Given the description of an element on the screen output the (x, y) to click on. 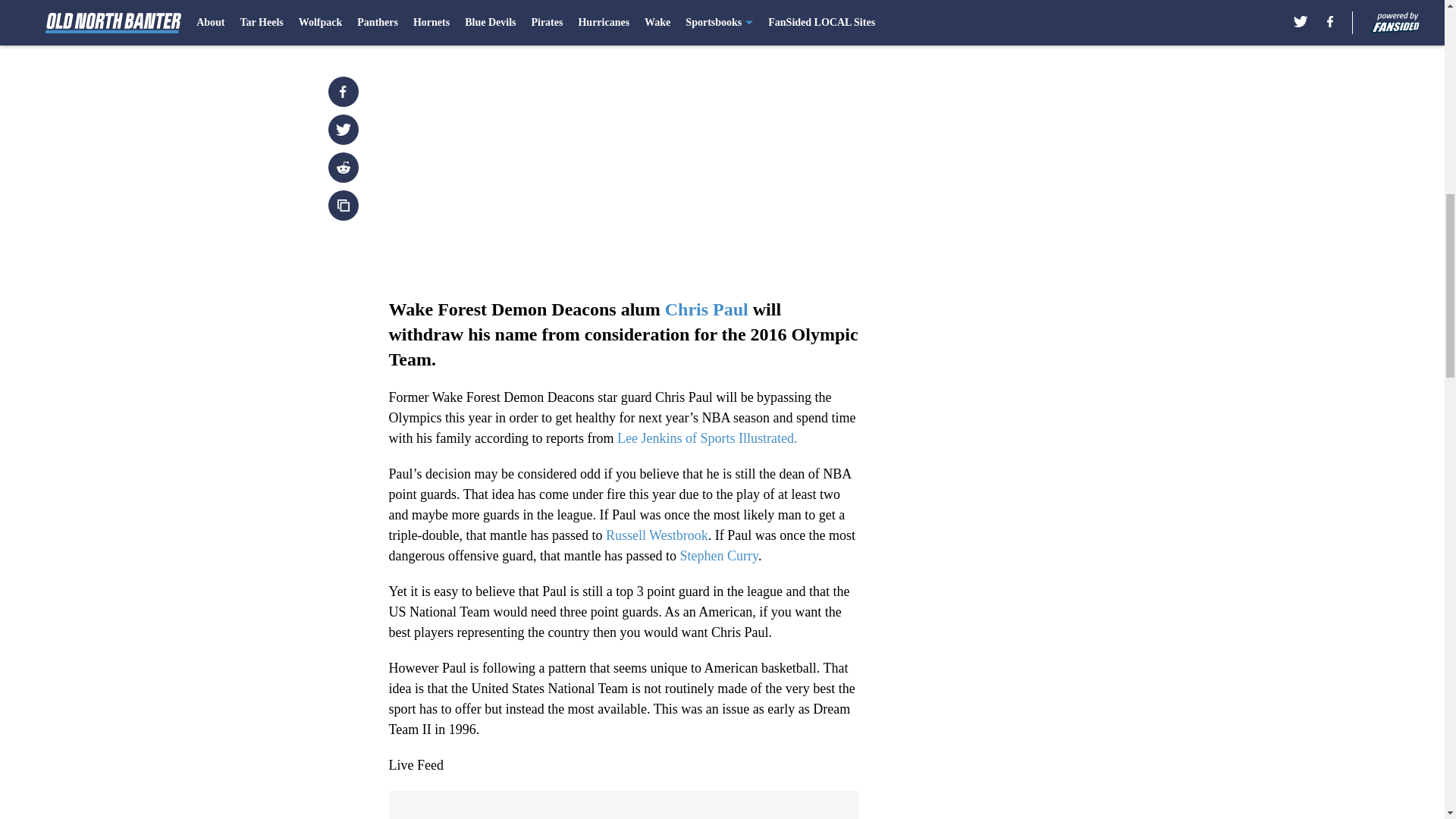
Chris Paul (706, 309)
Lee Jenkins of Sports Illustrated. (706, 437)
Stephen Curry (718, 555)
Russell Westbrook (656, 534)
